Given the description of an element on the screen output the (x, y) to click on. 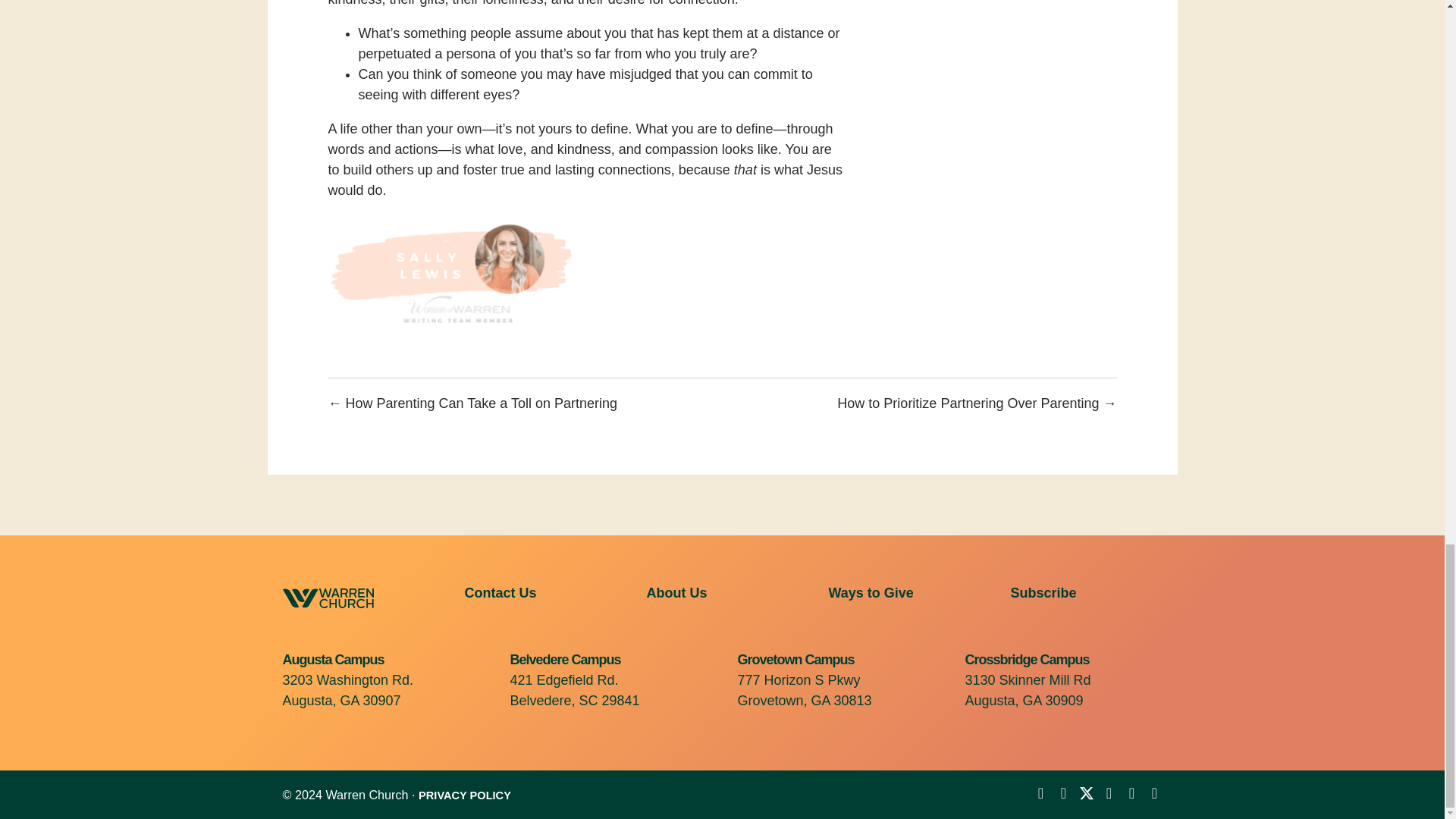
Email (1154, 792)
YouTube (1062, 792)
Facebook (1040, 792)
RSS (1131, 792)
Instagram (1108, 792)
Warren-Church-Logo (327, 598)
WarrenBaptist.org Privacy Policy (465, 795)
